Given the description of an element on the screen output the (x, y) to click on. 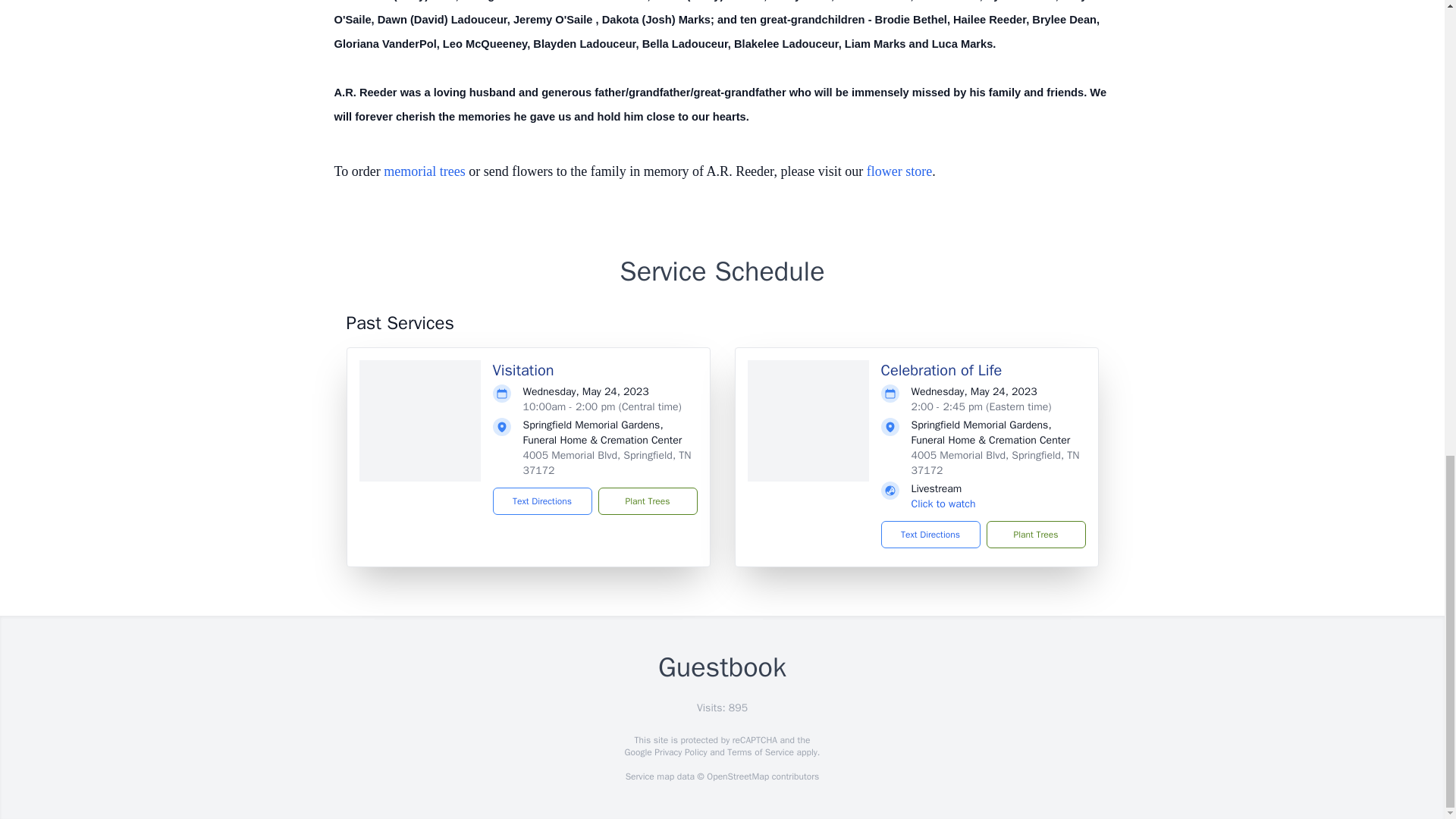
Privacy Policy (679, 752)
Plant Trees (1034, 533)
Plant Trees (646, 501)
4005 Memorial Blvd, Springfield, TN 37172 (995, 462)
flower store (898, 171)
Text Directions (929, 533)
Click to watch (943, 503)
Terms of Service (759, 752)
4005 Memorial Blvd, Springfield, TN 37172 (606, 462)
OpenStreetMap (737, 776)
